Given the description of an element on the screen output the (x, y) to click on. 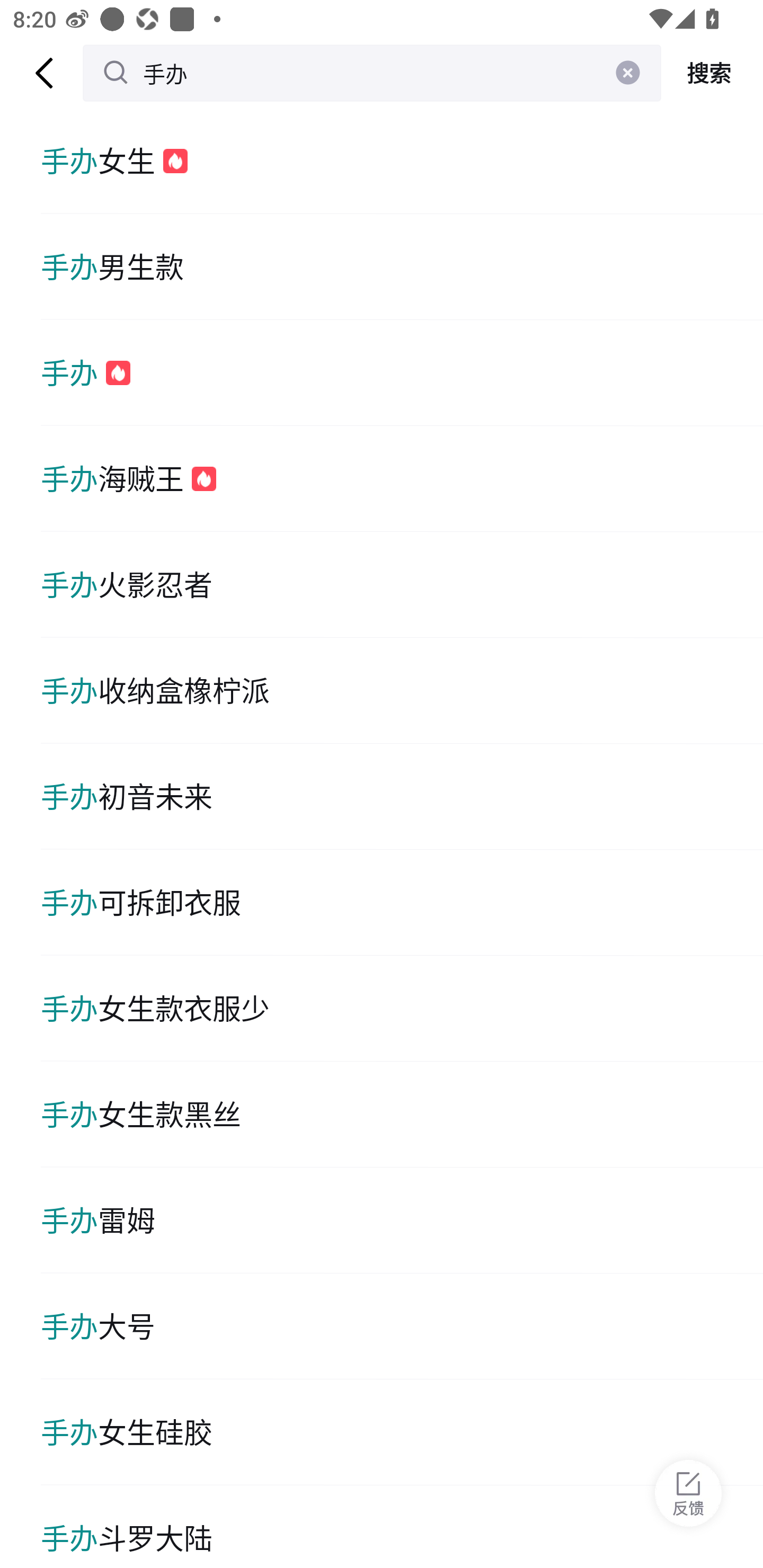
搜索 (712, 72)
手办 (371, 72)
手办女生 (401, 160)
手办男生款 (401, 266)
手办 (401, 372)
手办海贼王 (401, 478)
手办火影忍者 (401, 584)
手办收纳盒橡柠派 (401, 690)
手办初音未来 (401, 796)
手办可拆卸衣服 (401, 901)
手办女生款衣服少 (401, 1007)
手办女生款黑丝 (401, 1114)
手办雷姆 (401, 1220)
手办大号 (401, 1326)
手办女生硅胶 (401, 1431)
手办斗罗大陆 (401, 1526)
